Given the description of an element on the screen output the (x, y) to click on. 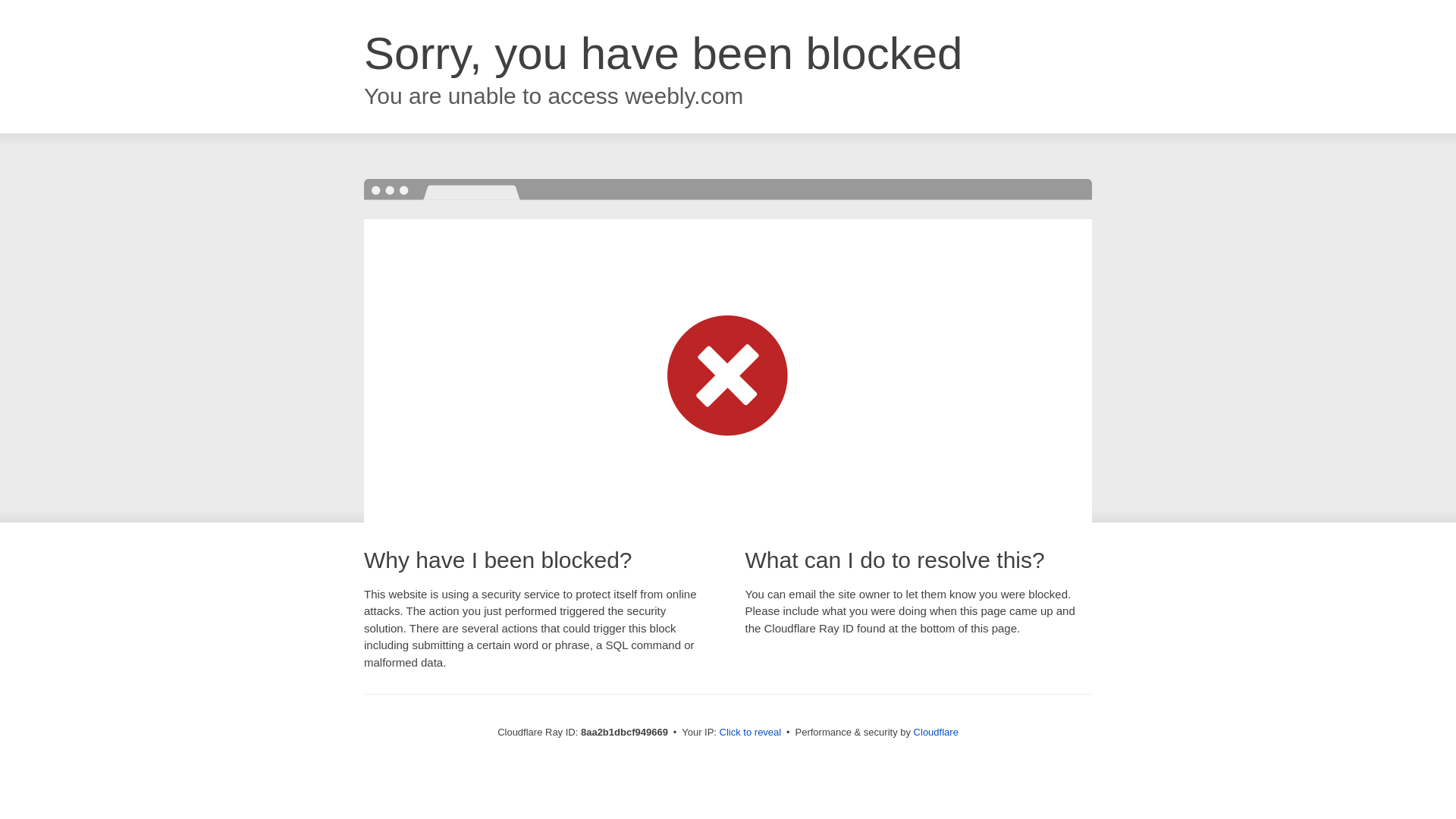
Cloudflare (936, 731)
Click to reveal (750, 732)
